Given the description of an element on the screen output the (x, y) to click on. 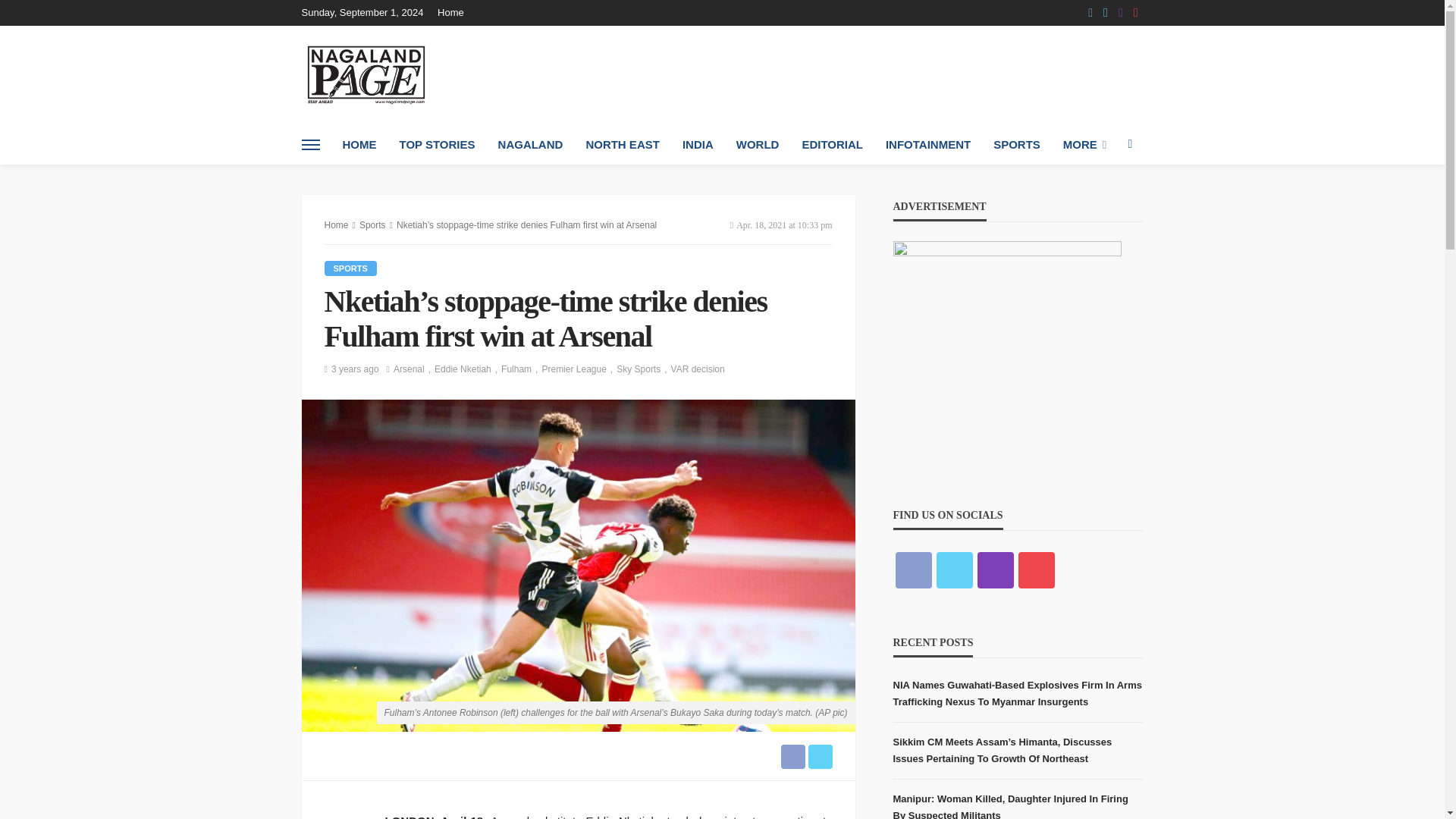
SPORTS (1016, 144)
TOP STORIES (437, 144)
Home (454, 12)
HOME (358, 144)
Sports (350, 268)
EDITORIAL (832, 144)
INDIA (698, 144)
NORTH EAST (622, 144)
NAGALAND (530, 144)
MORE (1084, 144)
